Given the description of an element on the screen output the (x, y) to click on. 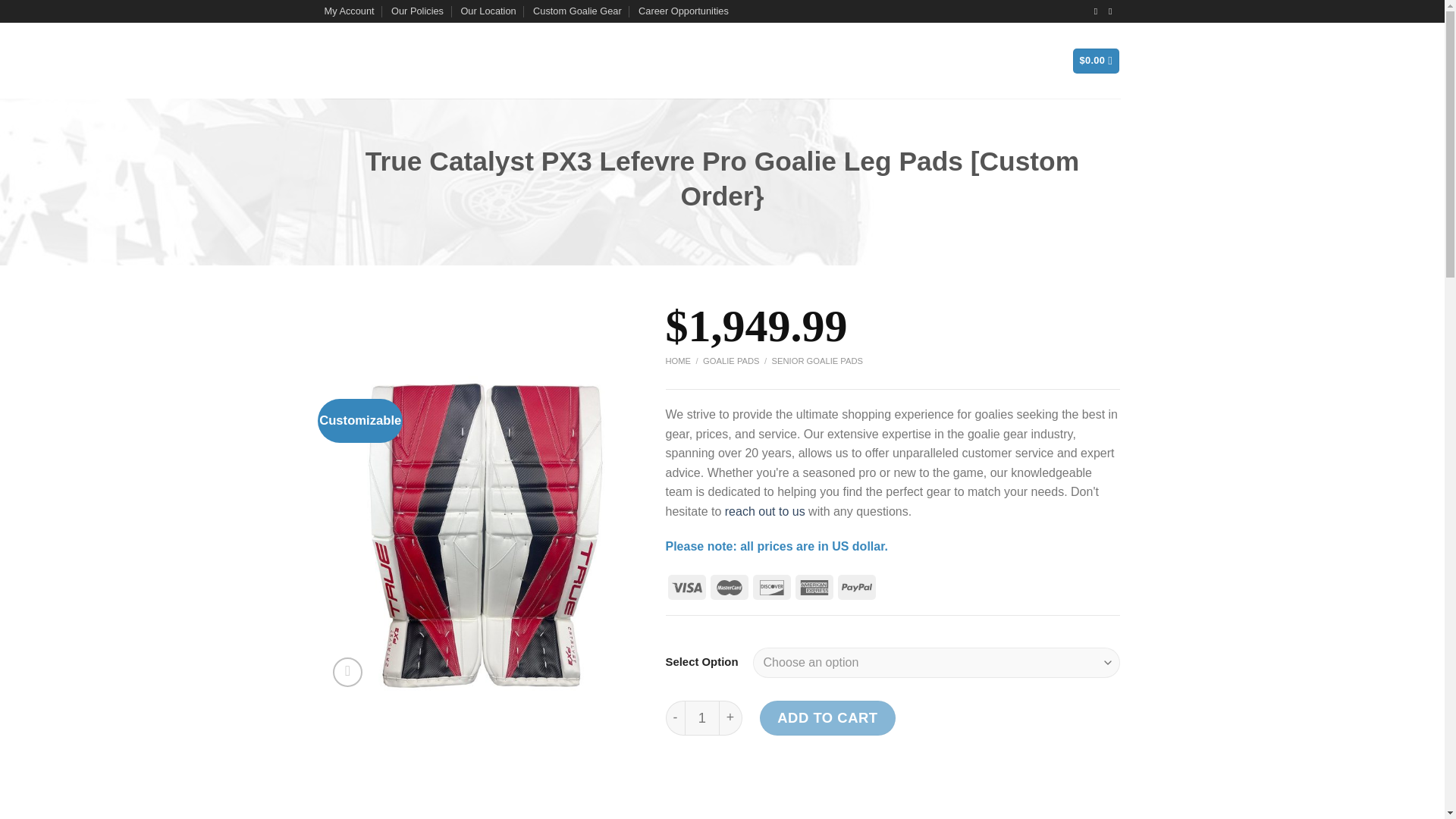
Our Policies (417, 11)
Zoom (347, 672)
Cart (1096, 60)
My Account (349, 11)
Our Location (487, 11)
Custom Goalie Gear (576, 11)
1 (701, 718)
GOALIE GEAR (516, 60)
Career Opportunities (684, 11)
